Given the description of an element on the screen output the (x, y) to click on. 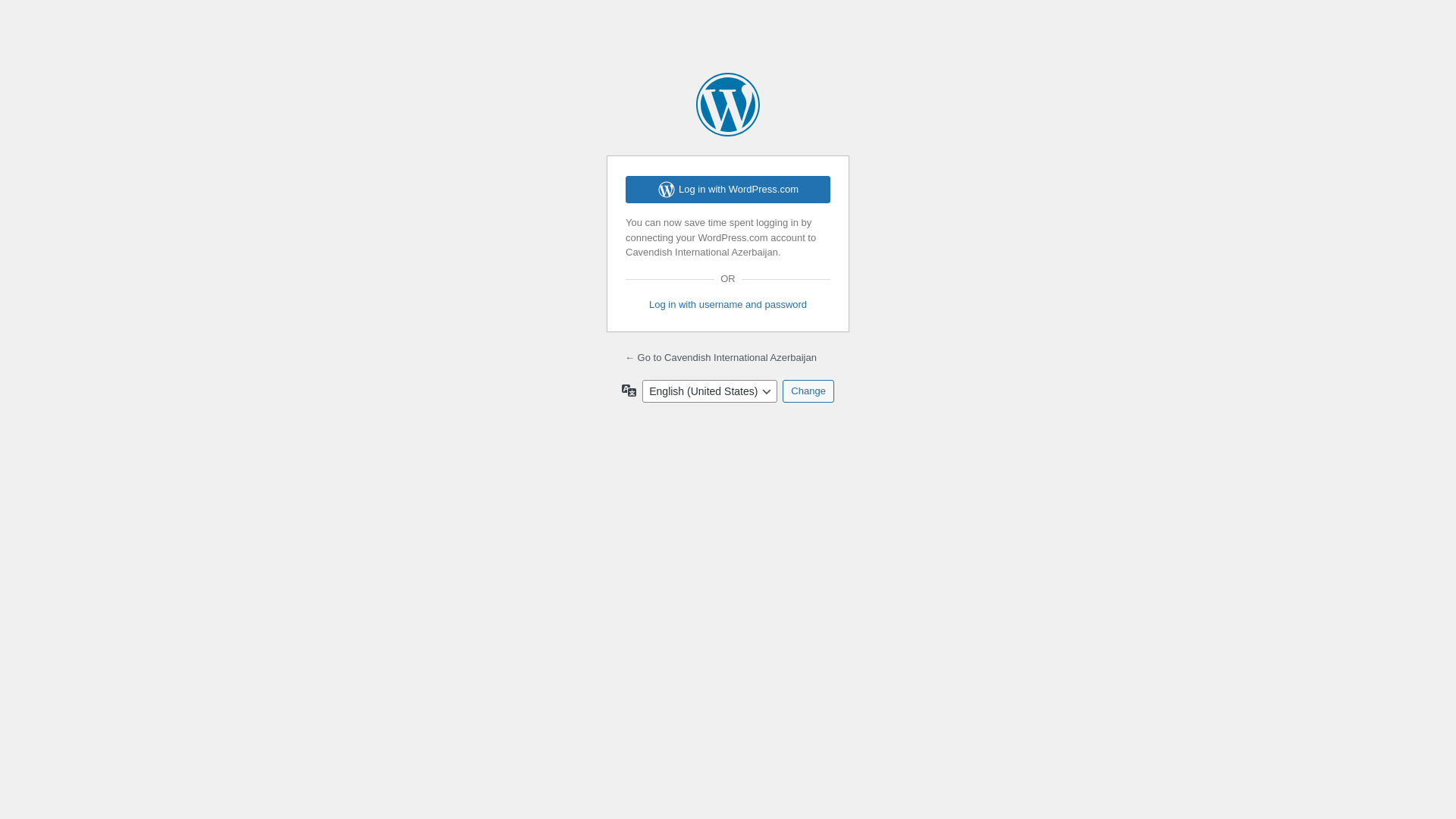
Change Element type: text (808, 390)
Powered by WordPress Element type: text (727, 104)
Log in with WordPress.com Element type: text (727, 189)
Log in with username and password Element type: text (727, 304)
